Given the description of an element on the screen output the (x, y) to click on. 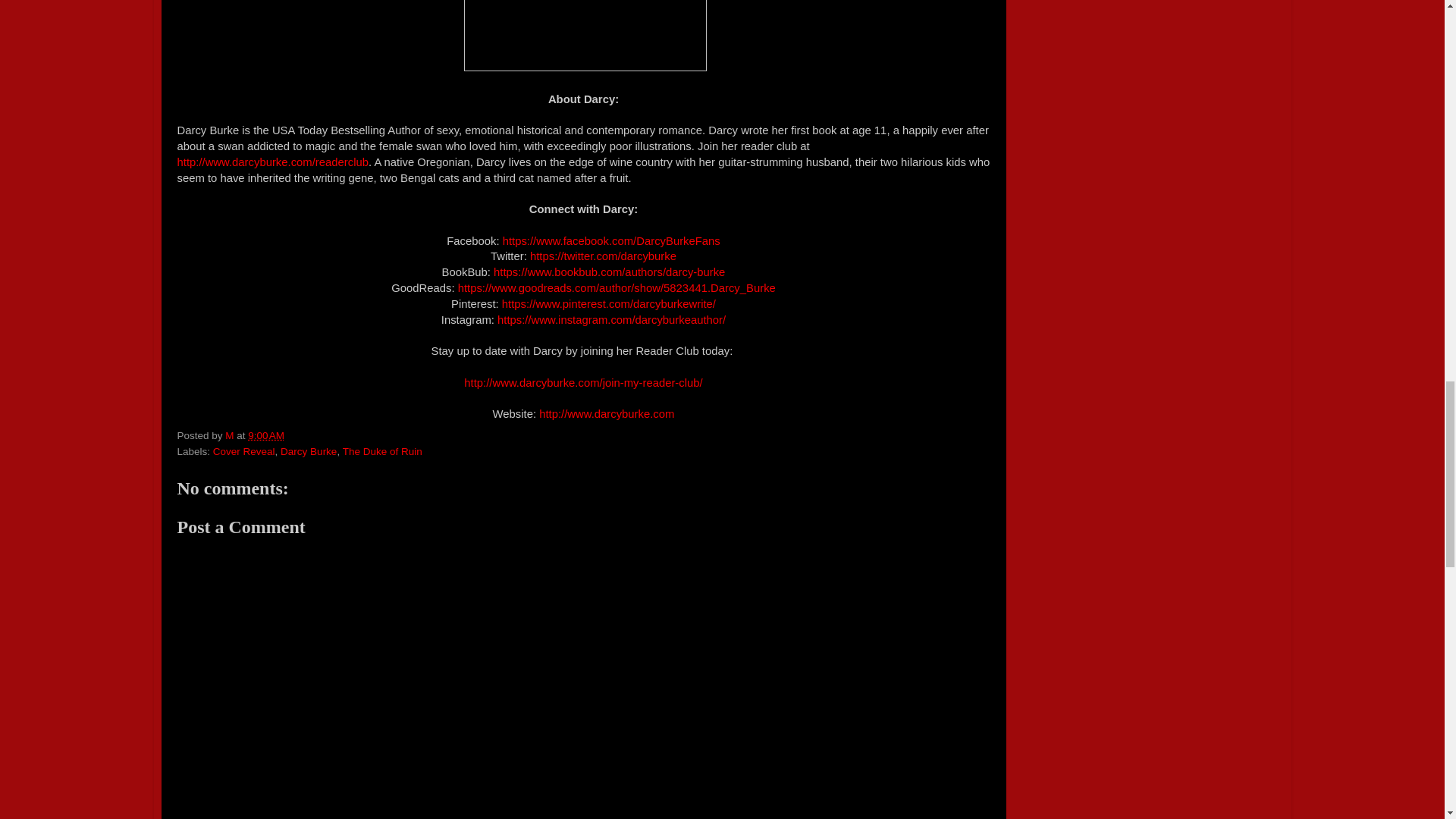
M (230, 435)
Cover Reveal (243, 451)
The Duke of Ruin (382, 451)
permanent link (265, 435)
Darcy Burke (308, 451)
author profile (230, 435)
